Given the description of an element on the screen output the (x, y) to click on. 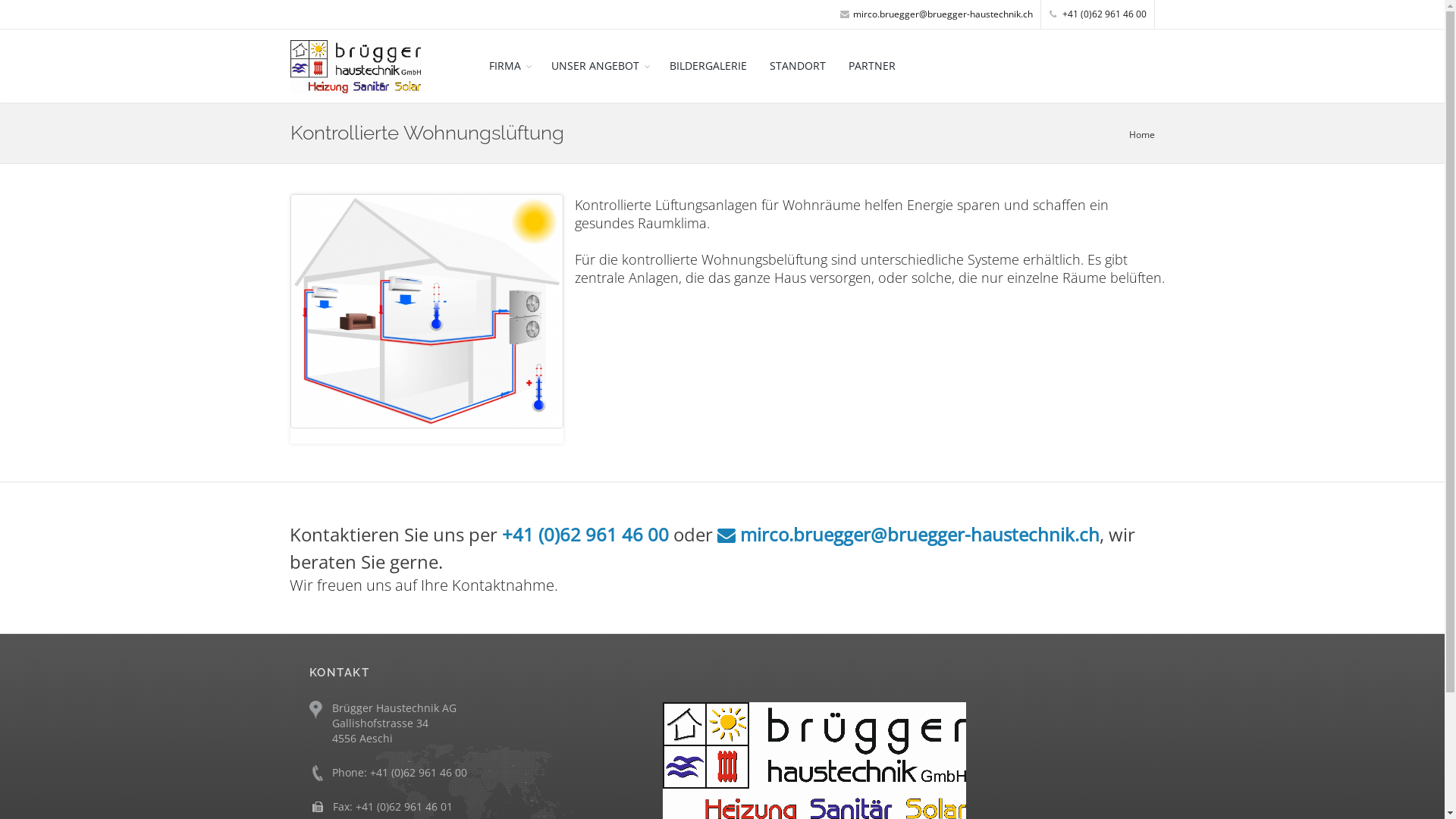
FIRMA Element type: text (508, 65)
Home Element type: text (1141, 133)
PARTNER Element type: text (871, 65)
STANDORT Element type: text (797, 65)
 +41 (0)62 961 46 00 Element type: text (1097, 14)
mirco.bruegger@bruegger-haustechnik.ch Element type: text (936, 14)
BILDERGALERIE Element type: text (708, 65)
UNSER ANGEBOT Element type: text (598, 65)
 mirco.bruegger@bruegger-haustechnik.ch Element type: text (908, 533)
